Given the description of an element on the screen output the (x, y) to click on. 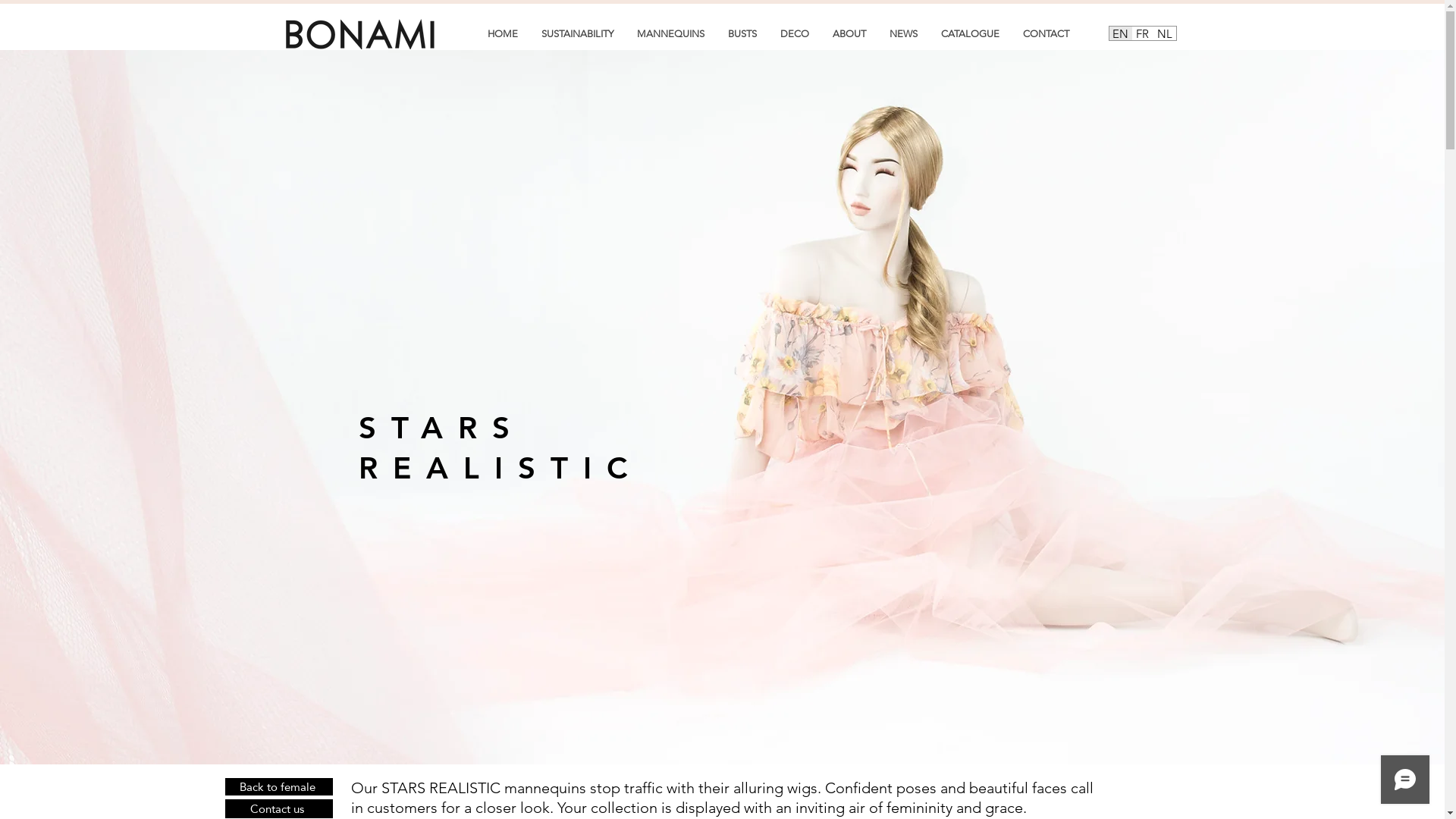
Back to female Element type: text (278, 786)
Contact us Element type: text (278, 808)
NEWS Element type: text (902, 33)
FR Element type: text (1142, 33)
HOME Element type: text (502, 33)
EN Element type: text (1119, 33)
ABOUT Element type: text (848, 33)
DECO Element type: text (794, 33)
CONTACT Element type: text (1045, 33)
SUSTAINABILITY Element type: text (576, 33)
NL Element type: text (1163, 33)
CATALOGUE Element type: text (969, 33)
